Given the description of an element on the screen output the (x, y) to click on. 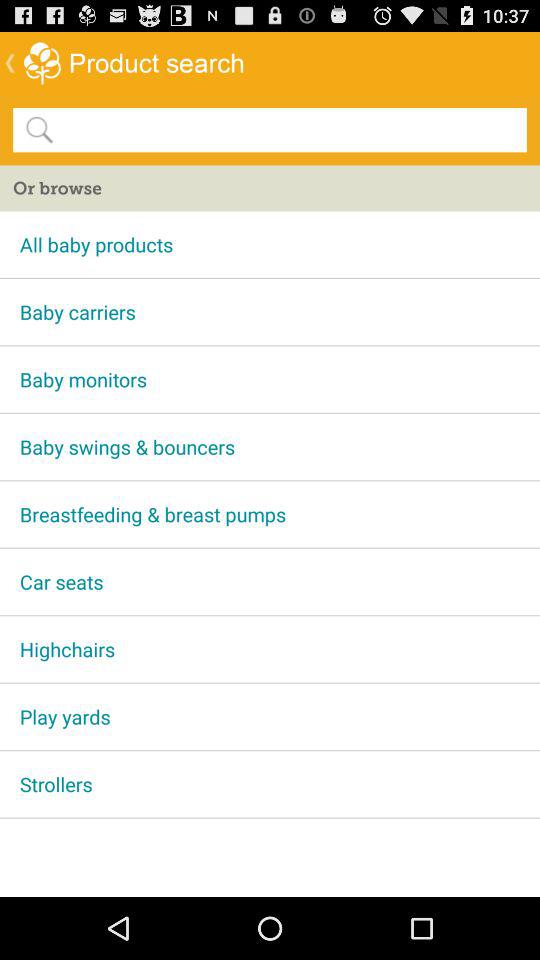
swipe until the all baby products icon (270, 244)
